Given the description of an element on the screen output the (x, y) to click on. 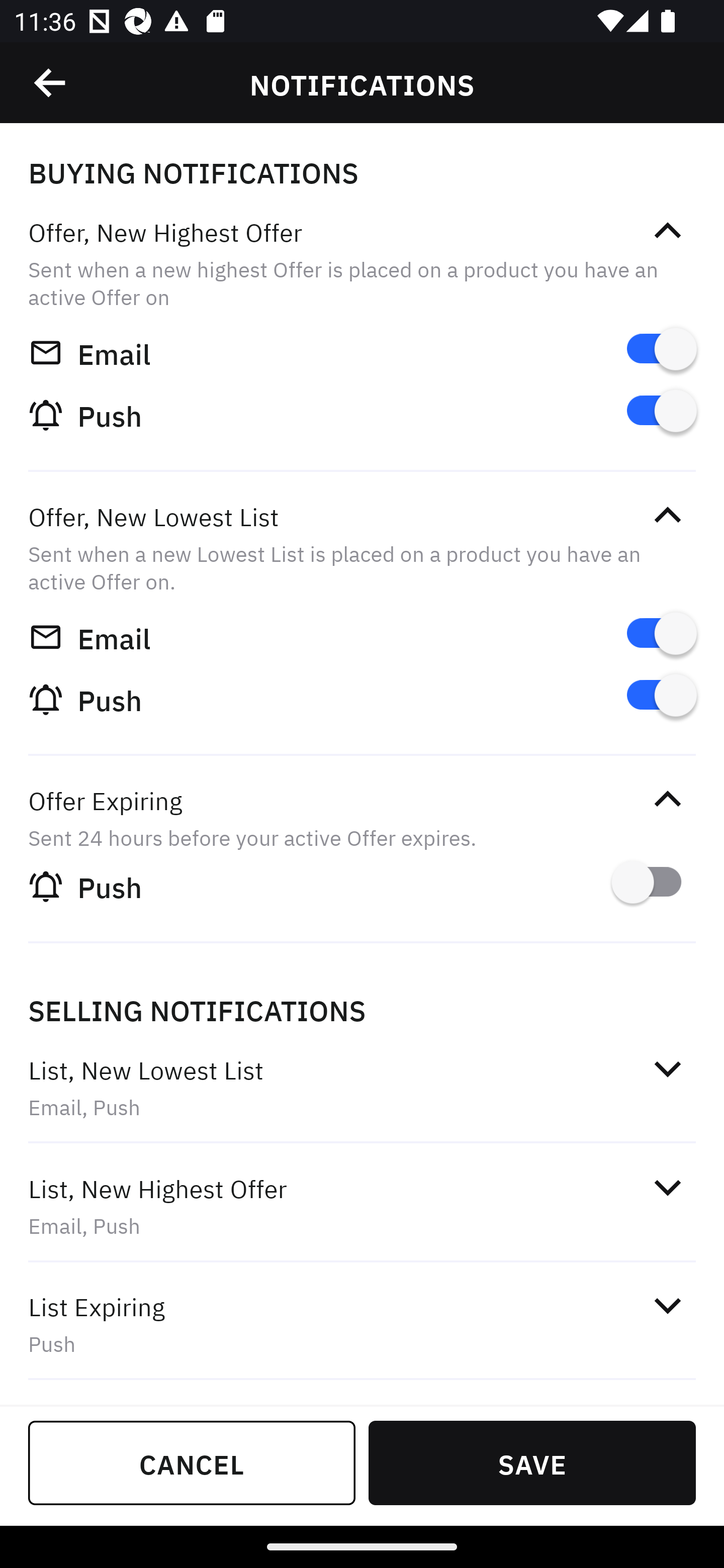
 (50, 83)
 (667, 231)
 (667, 514)
 (667, 799)
List, New Lowest List  Email, Push (361, 1087)
 (667, 1068)
List, New Highest Offer  Email, Push (361, 1206)
 (667, 1187)
List Expiring  Push (361, 1323)
 (667, 1305)
CANCEL (191, 1462)
SAVE (531, 1462)
